Given the description of an element on the screen output the (x, y) to click on. 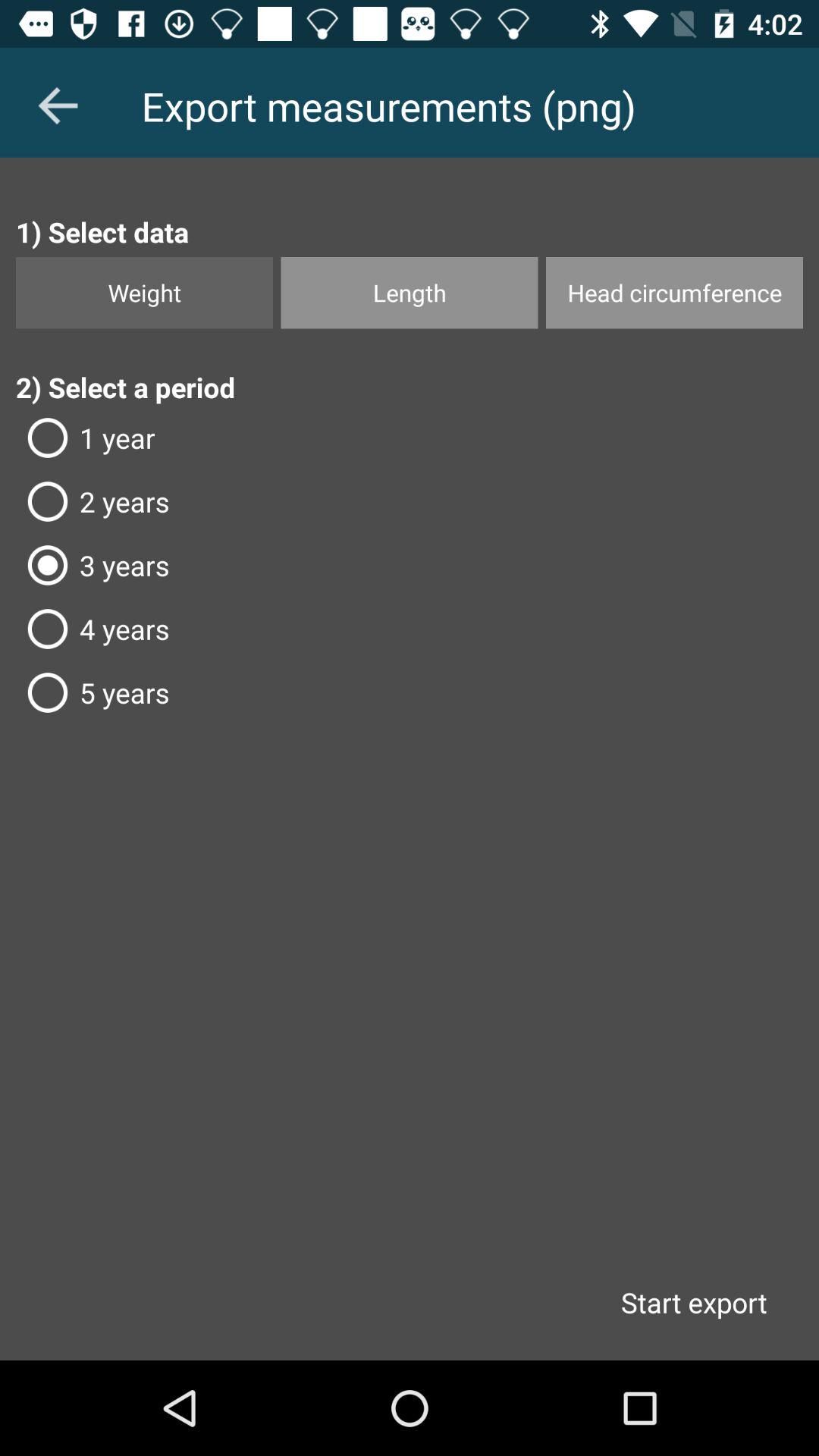
click item above the 4 years icon (409, 565)
